Given the description of an element on the screen output the (x, y) to click on. 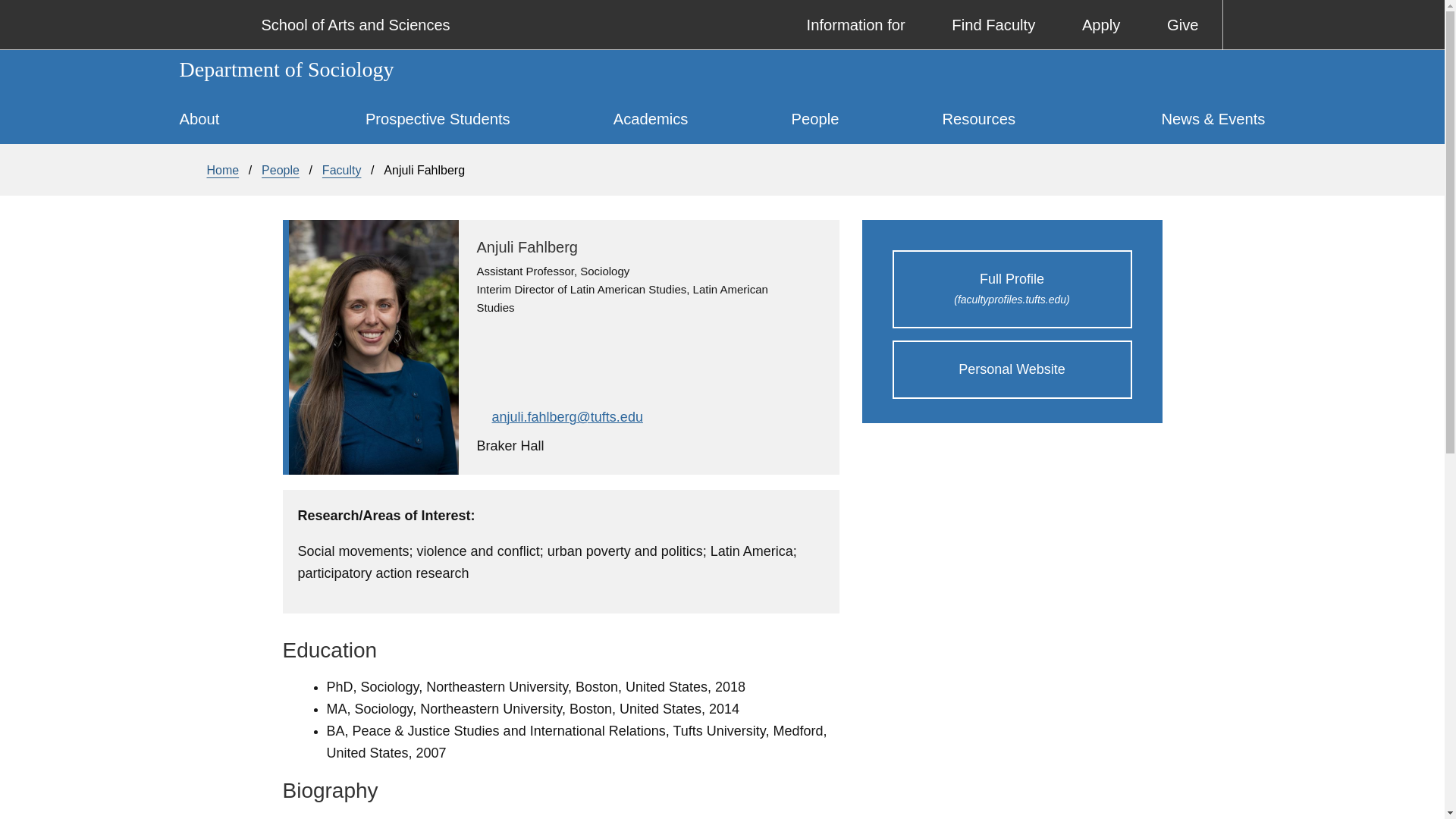
Resources (978, 119)
People (815, 119)
Apply (1089, 24)
Academics (650, 119)
Open search (1247, 24)
Information for (844, 24)
Prospective Students (438, 119)
Skip to main content (737, 4)
School of Arts and Sciences (354, 24)
Give (1170, 24)
Find Faculty (982, 24)
Department of Sociology (722, 69)
About (249, 119)
